Given the description of an element on the screen output the (x, y) to click on. 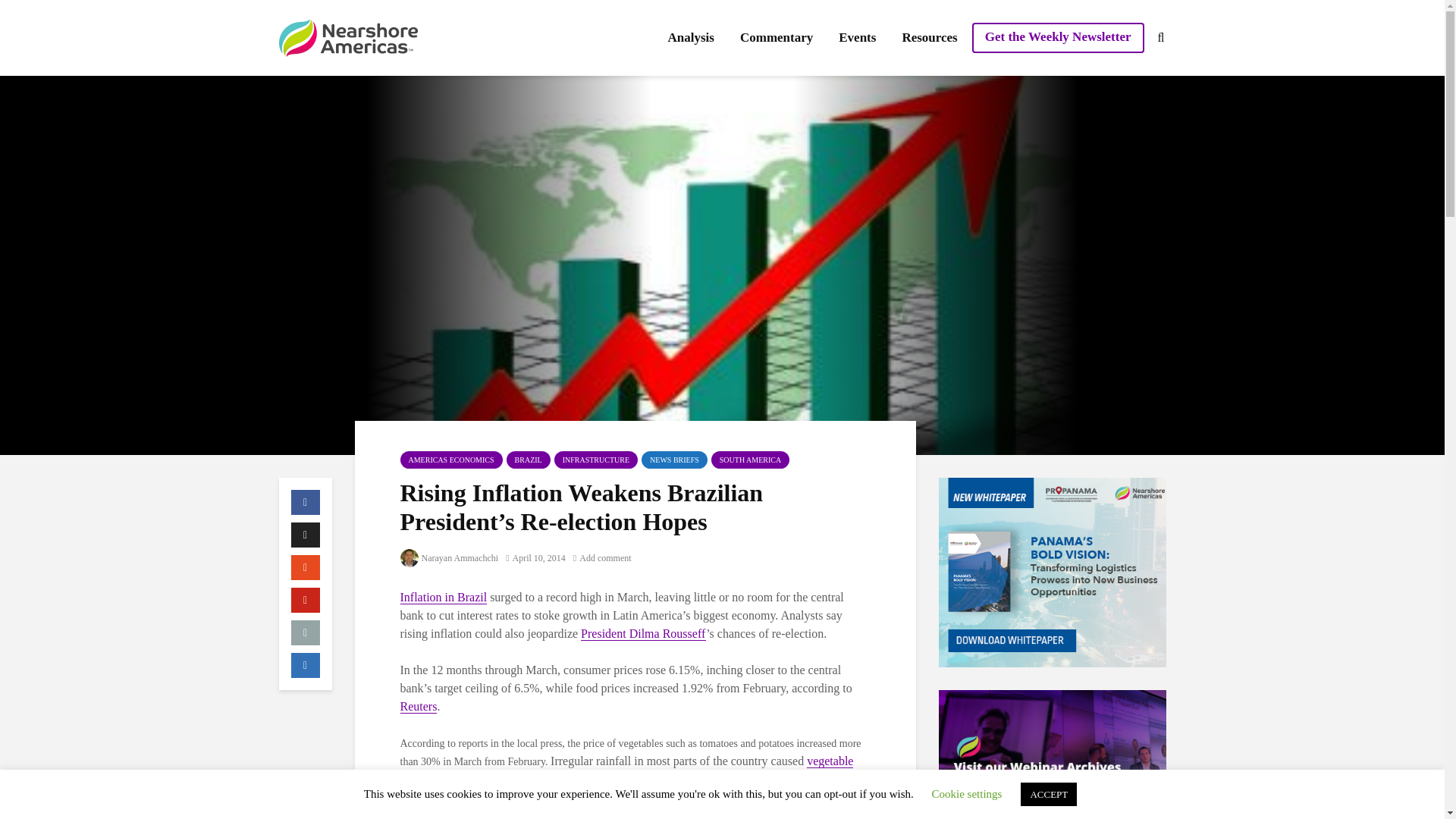
Get the Weekly Newsletter (1058, 37)
Analysis (690, 37)
Events (856, 37)
NEWS BRIEFS (674, 459)
vegetable prices (626, 770)
Commentary (776, 37)
Resources (928, 37)
Inflation in Brazil (443, 597)
SOUTH AMERICA (750, 459)
INFRASTRUCTURE (595, 459)
